Given the description of an element on the screen output the (x, y) to click on. 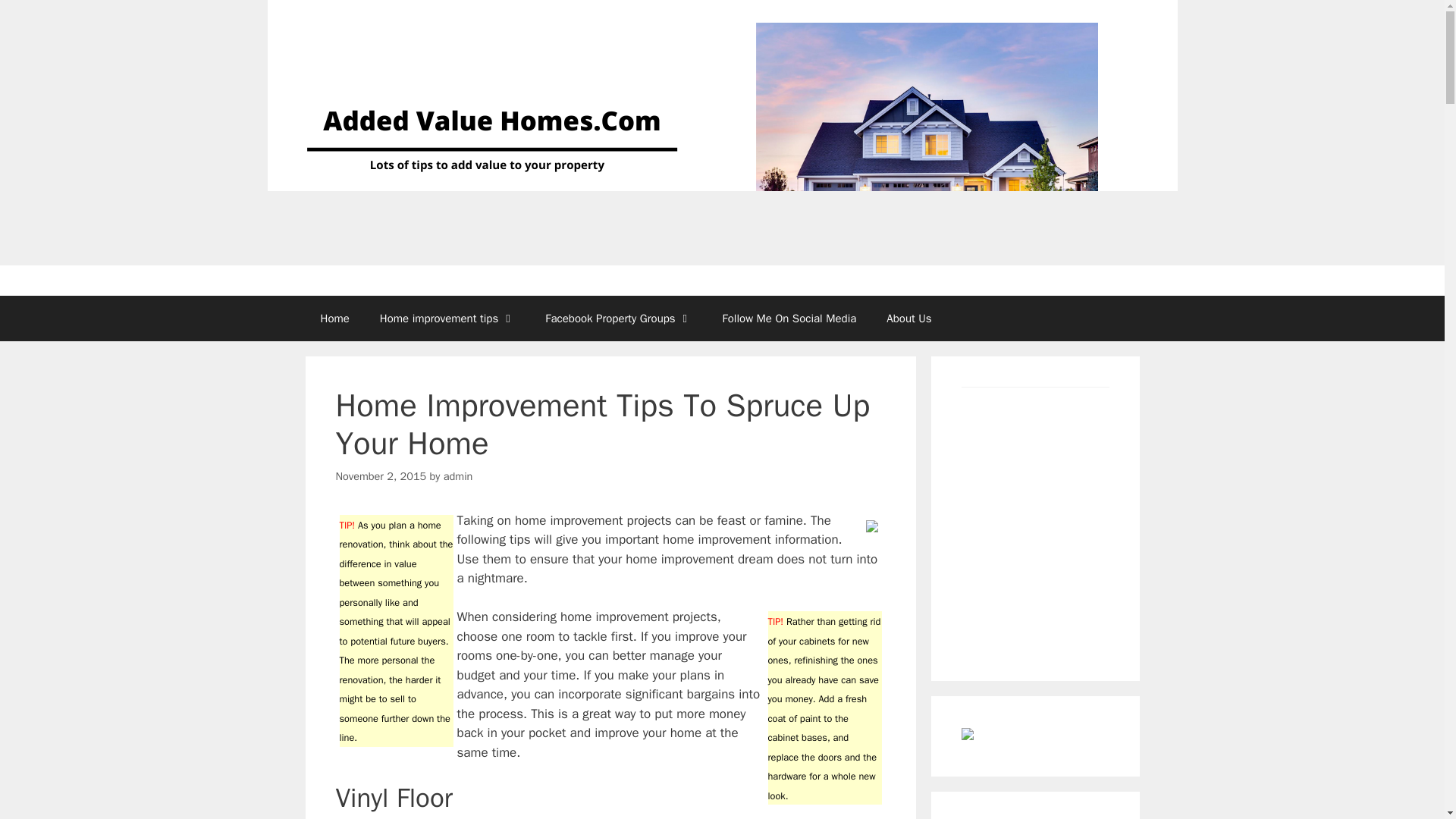
About Us (908, 318)
Home improvement tips (447, 318)
View all posts by admin (458, 476)
Home (334, 318)
Facebook Property Groups (617, 318)
Follow Me On Social Media (789, 318)
admin (458, 476)
